Given the description of an element on the screen output the (x, y) to click on. 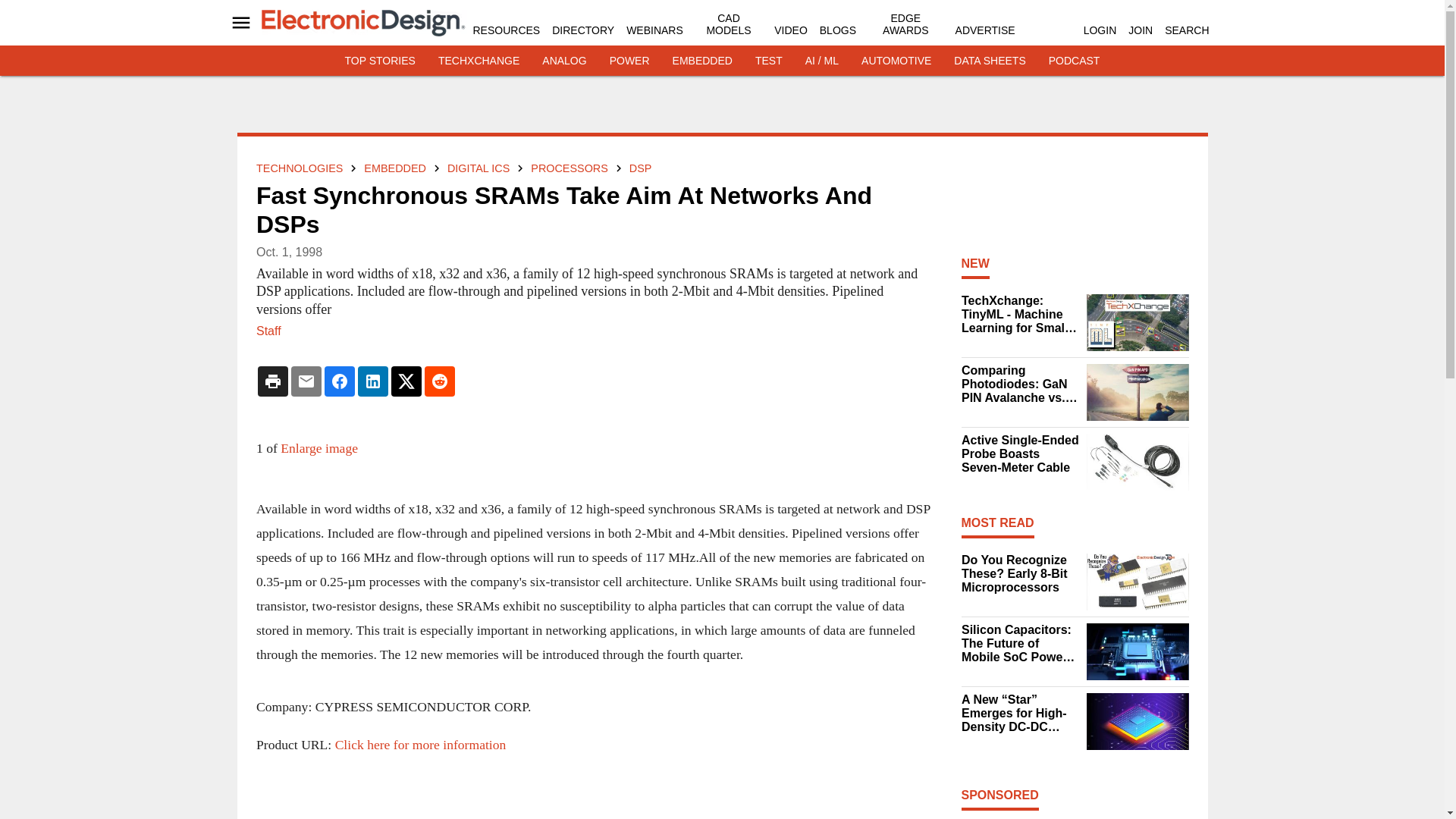
SEARCH (1186, 30)
PODCAST (1074, 60)
TECHXCHANGE (478, 60)
DIRECTORY (582, 30)
POWER (629, 60)
AUTOMOTIVE (896, 60)
VIDEO (791, 30)
EDGE AWARDS (905, 24)
EMBEDDED (702, 60)
BLOGS (837, 30)
